Given the description of an element on the screen output the (x, y) to click on. 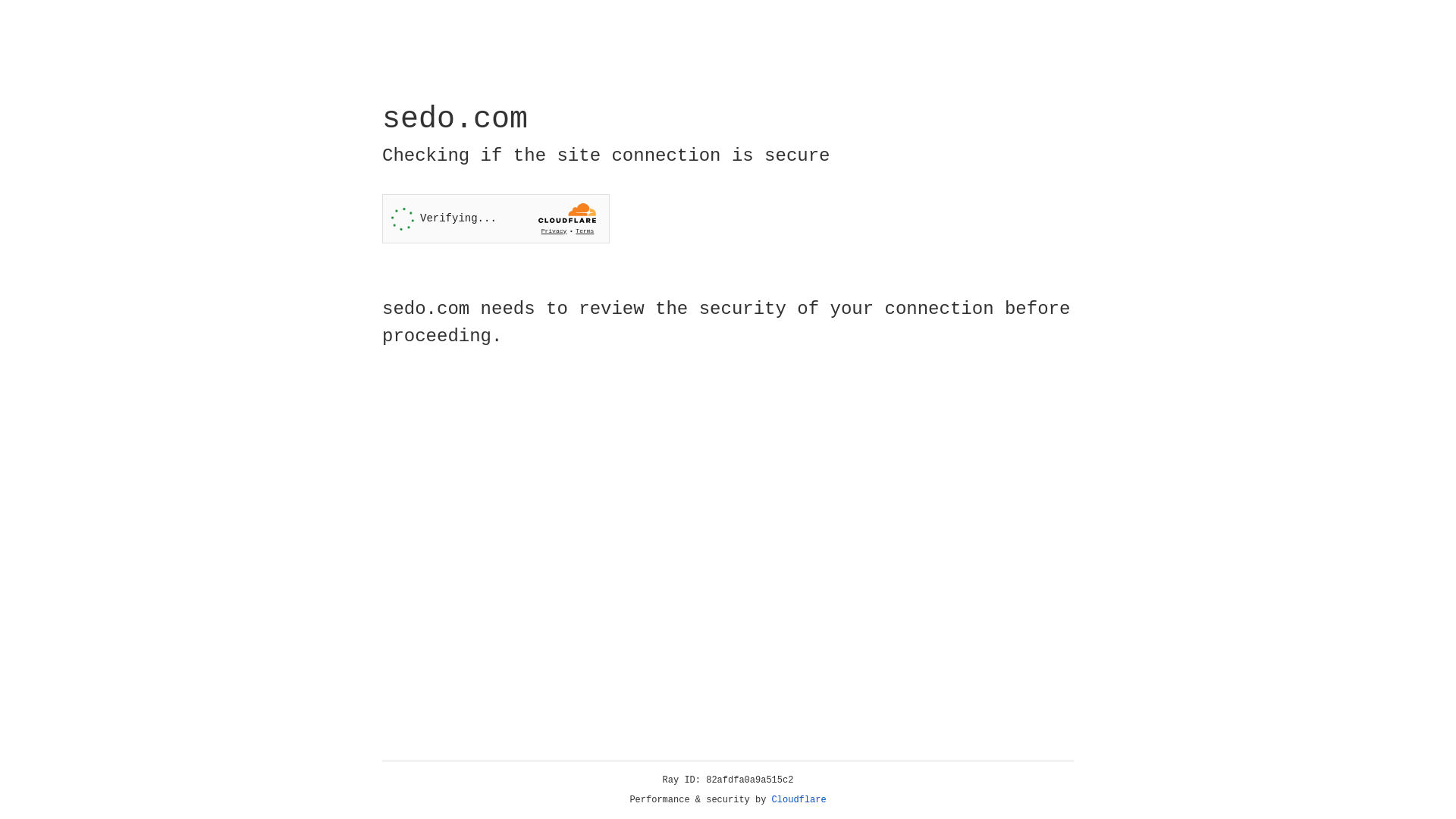
Cloudflare Element type: text (798, 799)
Widget containing a Cloudflare security challenge Element type: hover (495, 218)
